Given the description of an element on the screen output the (x, y) to click on. 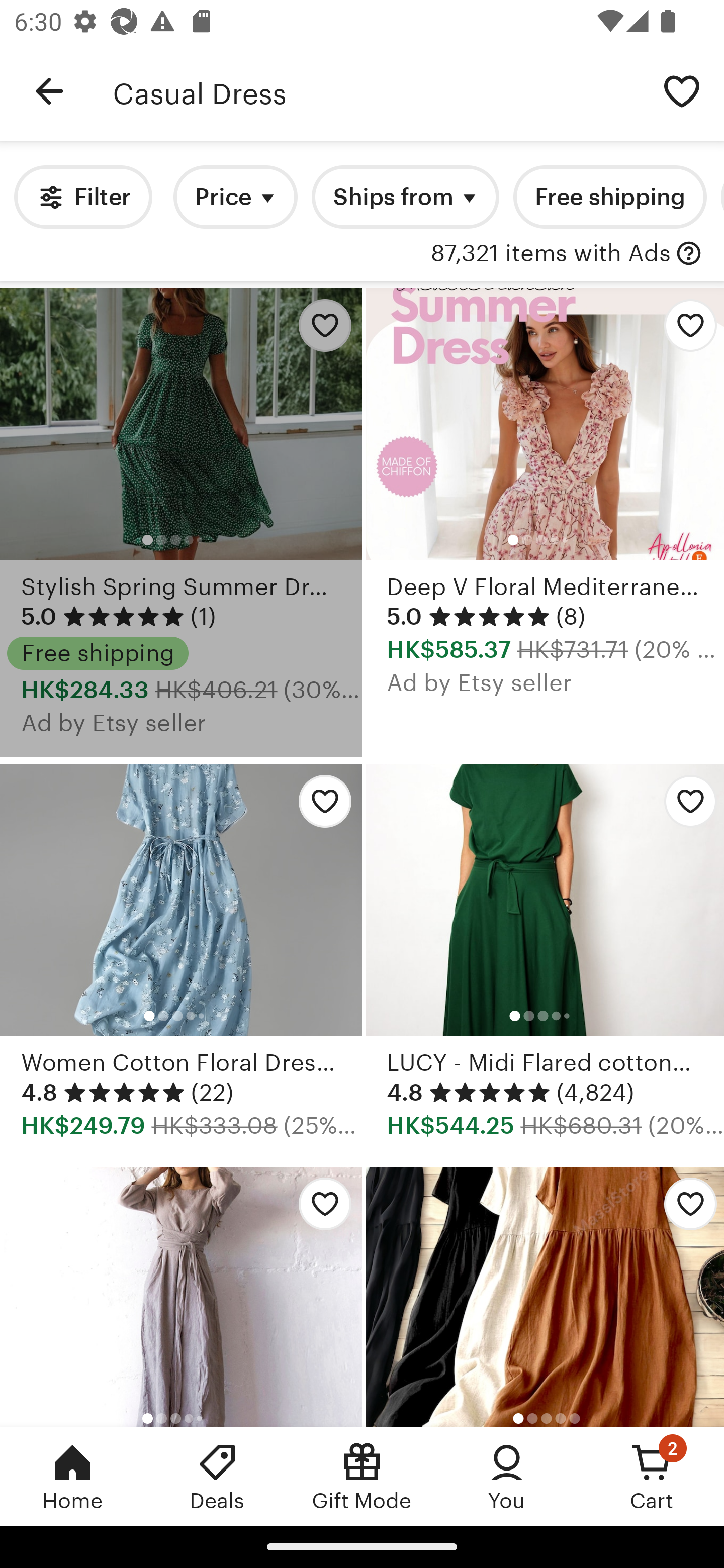
Navigate up (49, 91)
Save search (681, 90)
Casual Dress (375, 91)
Filter (82, 197)
Price (235, 197)
Ships from (405, 197)
Free shipping (609, 197)
87,321 items with Ads (550, 253)
with Ads (688, 253)
Deals (216, 1475)
Gift Mode (361, 1475)
You (506, 1475)
Cart, 2 new notifications Cart (651, 1475)
